Given the description of an element on the screen output the (x, y) to click on. 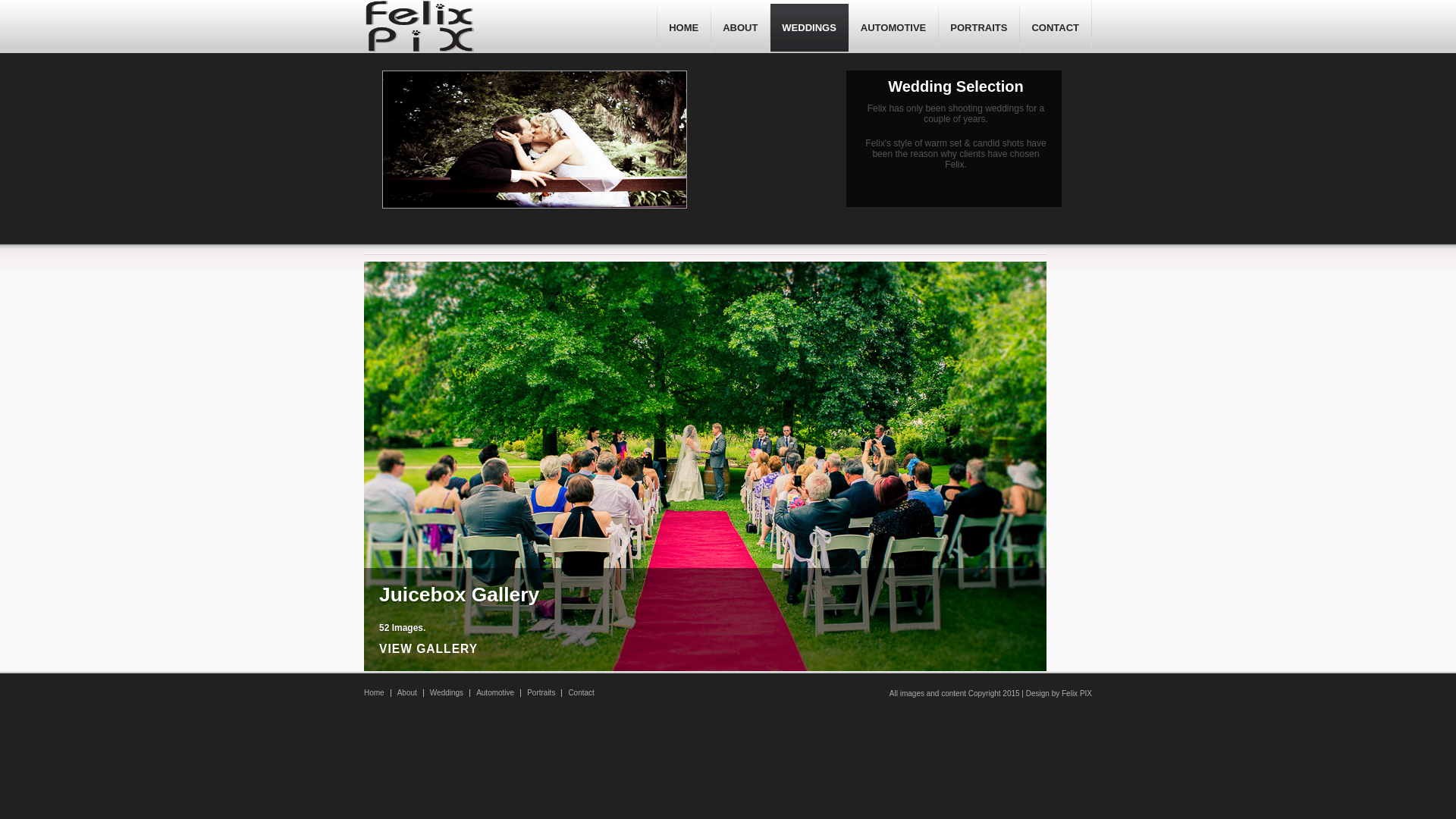
ABOUT Element type: text (740, 27)
Portraits Element type: text (541, 692)
Weddings Element type: text (446, 692)
About Element type: text (407, 692)
CONTACT Element type: text (1055, 27)
HOME Element type: text (683, 27)
PORTRAITS Element type: text (978, 27)
Automotive Element type: text (495, 692)
AUTOMOTIVE Element type: text (893, 27)
Home Element type: text (374, 692)
WEDDINGS Element type: text (809, 27)
VIEW GALLERY Element type: text (705, 656)
Contact Element type: text (580, 692)
